Given the description of an element on the screen output the (x, y) to click on. 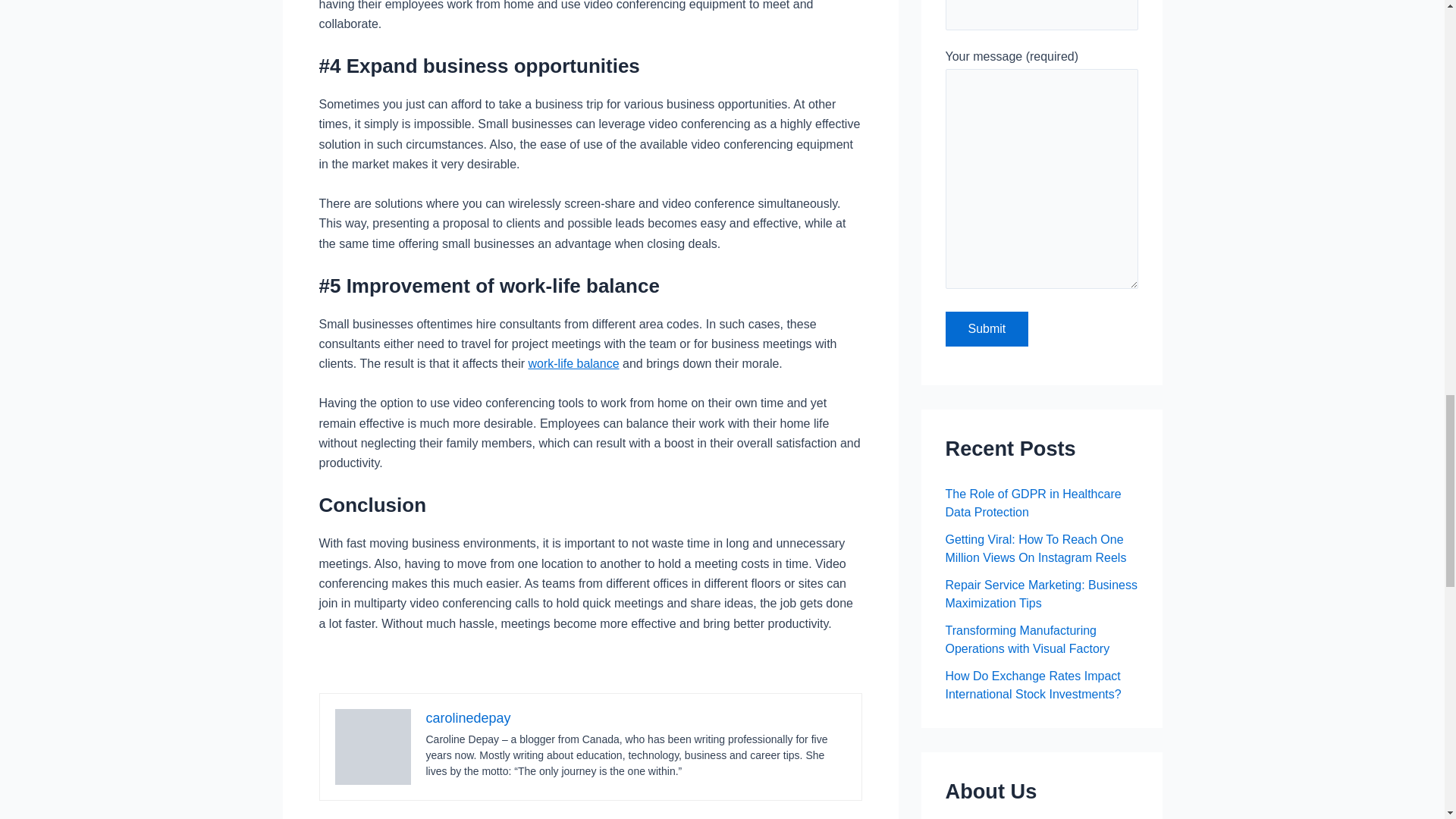
carolinedepay (468, 717)
Submit (985, 329)
work-life balance (572, 363)
